Given the description of an element on the screen output the (x, y) to click on. 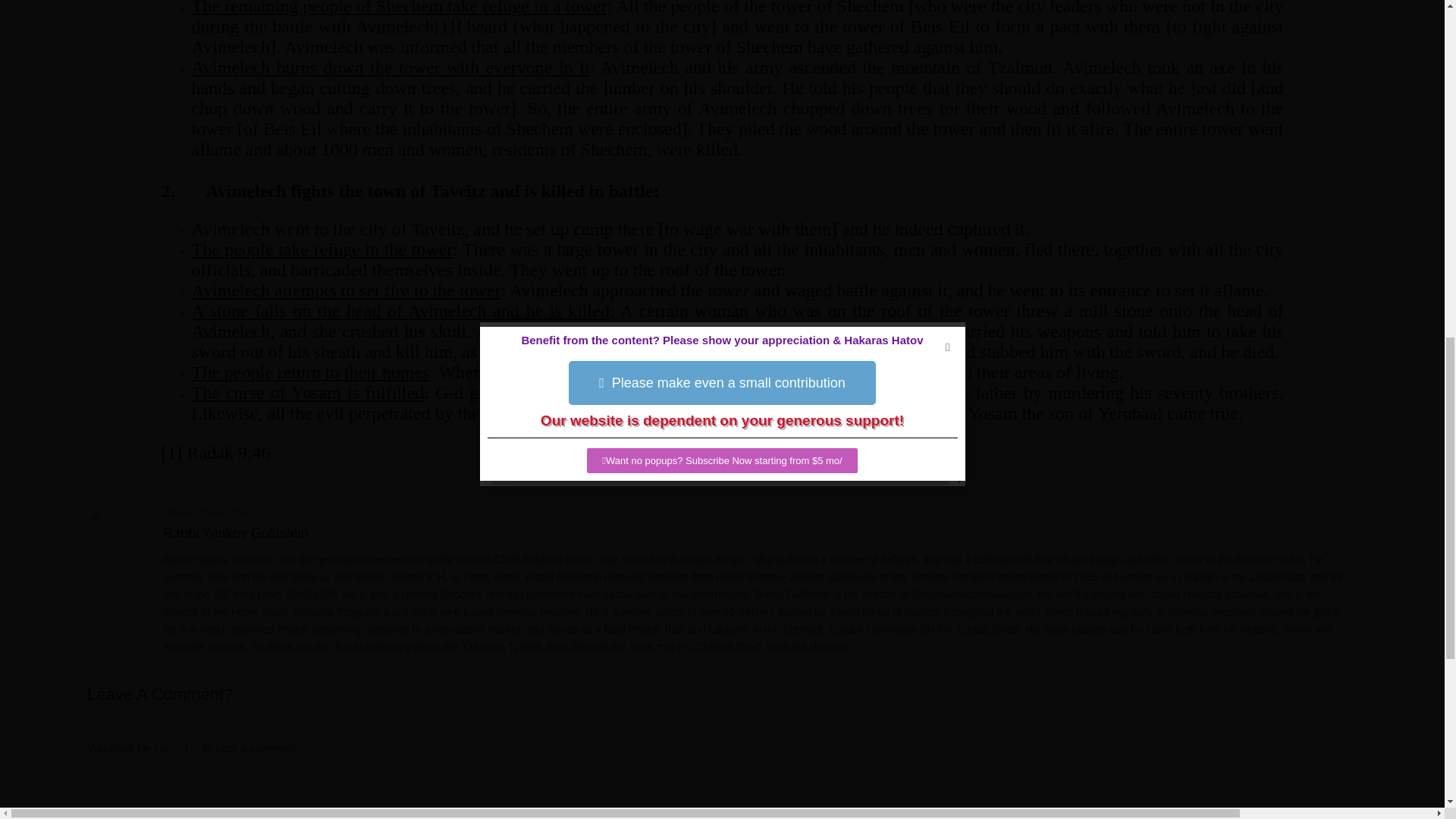
Log in (175, 748)
